Given the description of an element on the screen output the (x, y) to click on. 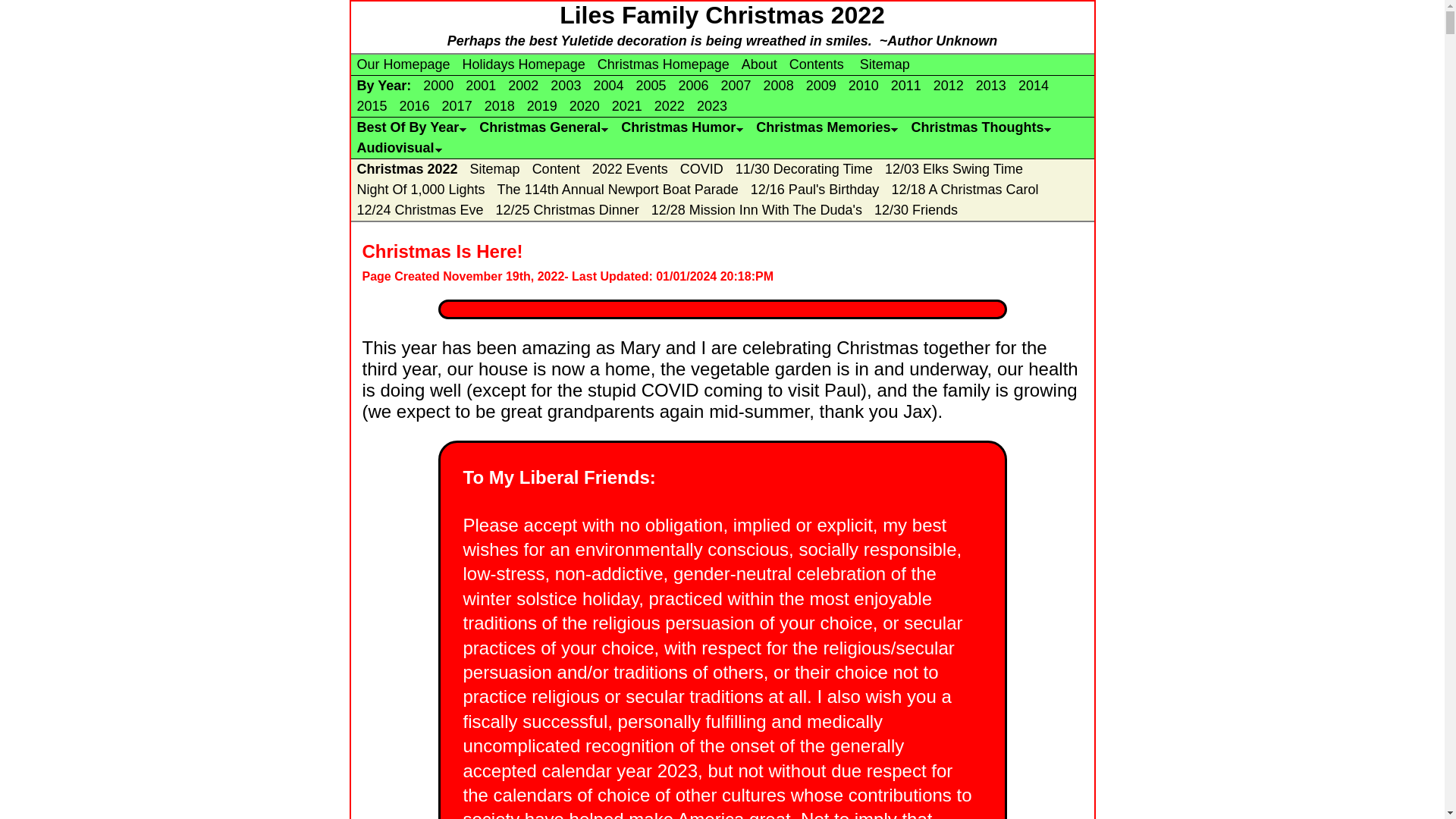
Christmas General (543, 127)
2000 (437, 85)
Christmas Memories (826, 127)
2013 (990, 85)
2022 (668, 105)
By Year: (383, 85)
2020 (584, 105)
2017 (456, 105)
2011 (906, 85)
2018 (499, 105)
